Given the description of an element on the screen output the (x, y) to click on. 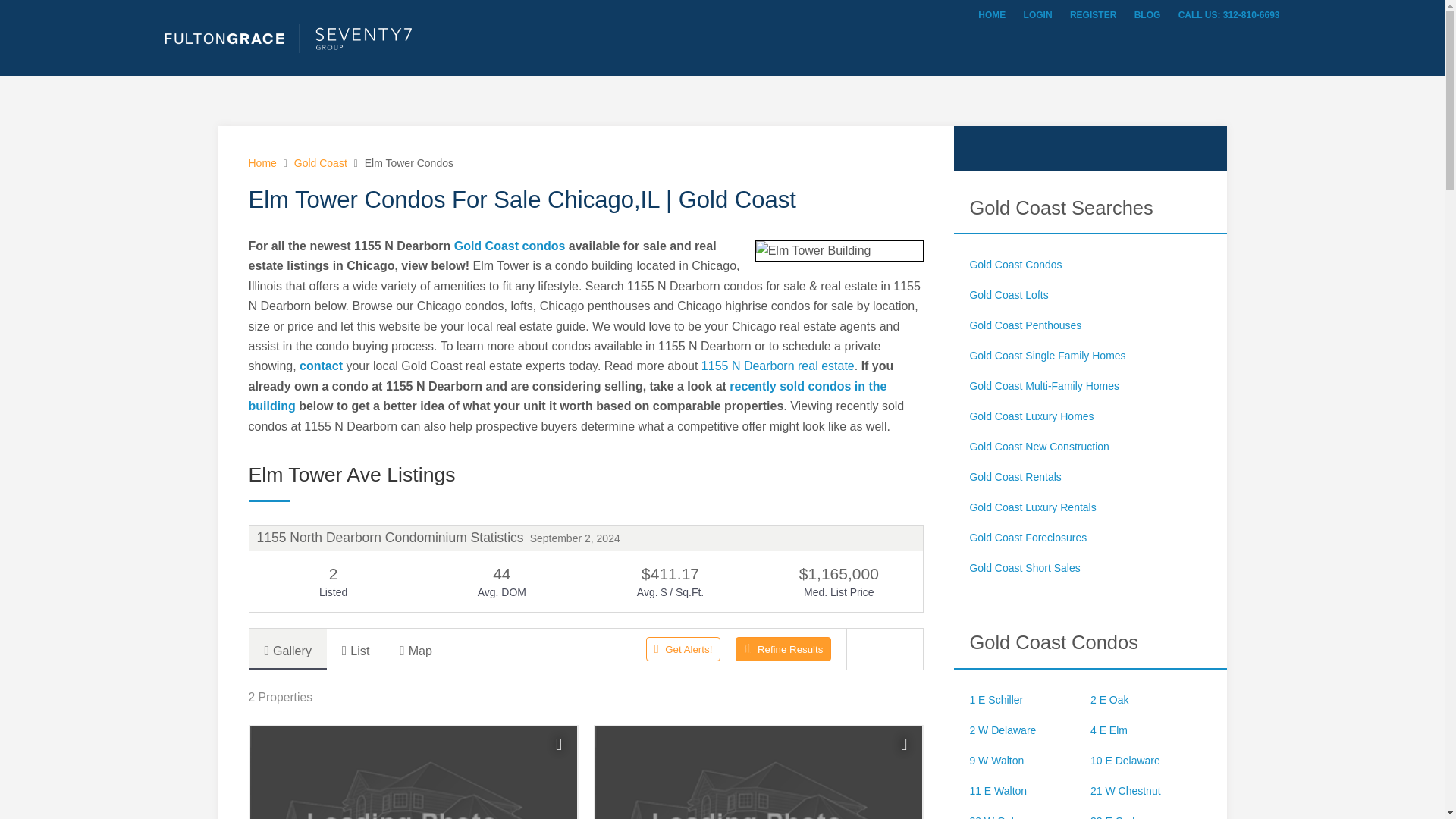
LOGIN (1037, 14)
BLOG (1147, 14)
HOME (992, 14)
CALL US: 312-810-6693 (1228, 14)
REGISTER (1093, 14)
